Given the description of an element on the screen output the (x, y) to click on. 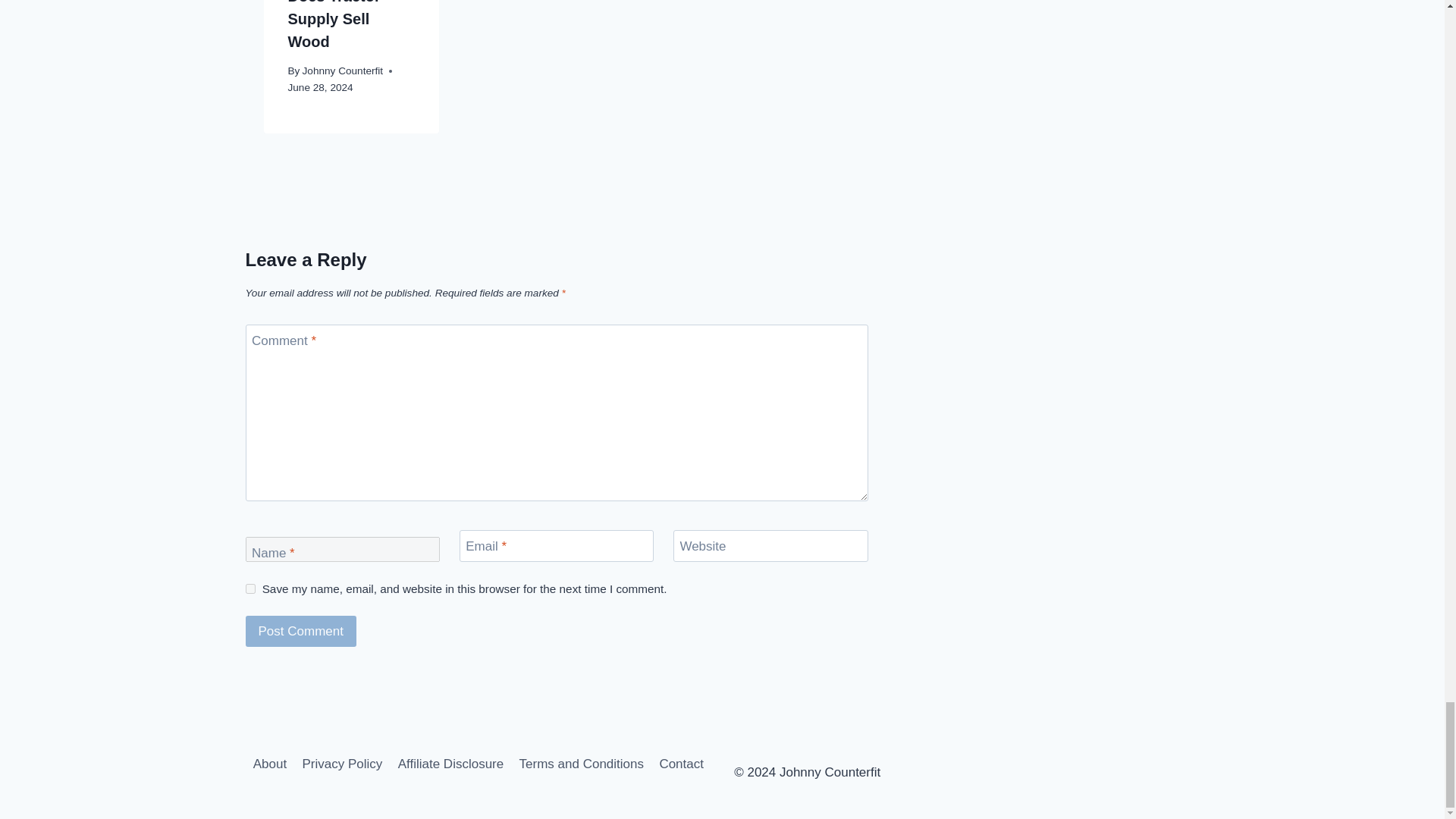
yes (251, 588)
Post Comment (301, 631)
